Given the description of an element on the screen output the (x, y) to click on. 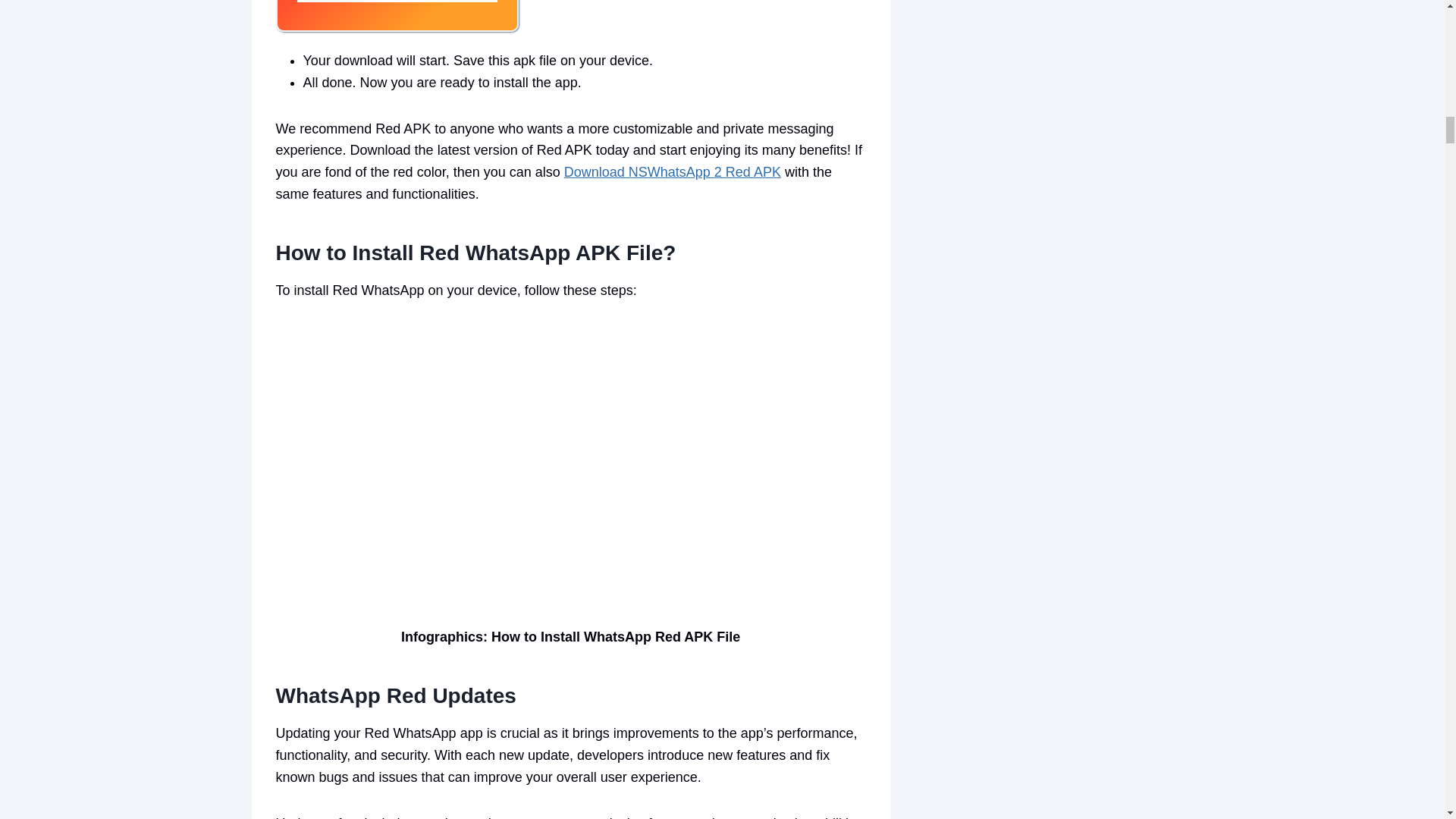
WhatsApp Red V34.00 (397, 15)
Download NSWhatsApp 2 Red APK (672, 171)
